Given the description of an element on the screen output the (x, y) to click on. 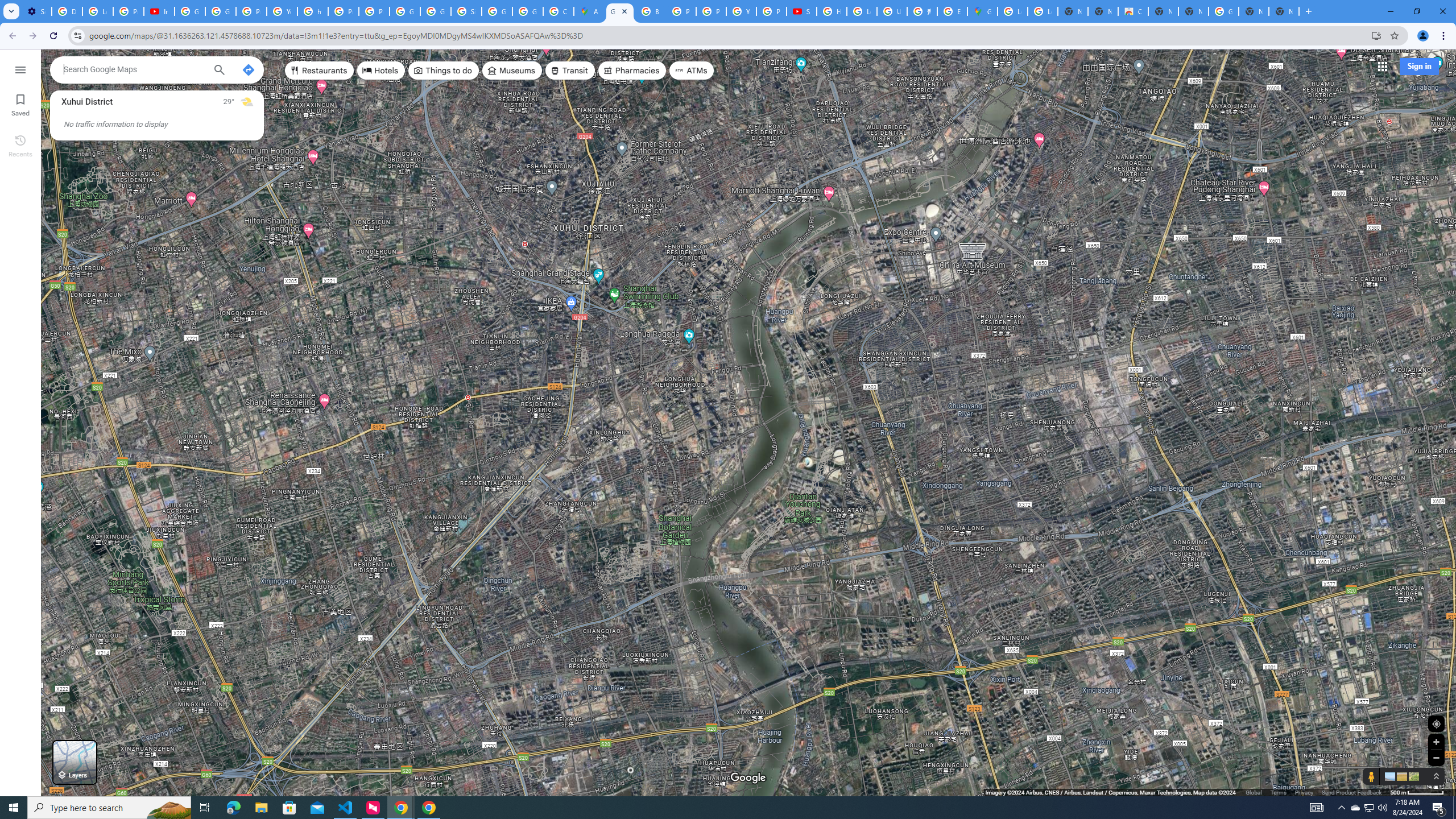
Settings - Customize profile (36, 11)
Blogger Policies and Guidelines - Transparency Center (650, 11)
Partly cloudy (246, 101)
Menu (20, 68)
Learn how to find your photos - Google Photos Help (97, 11)
Zoom out (1436, 757)
Transit (569, 70)
Show Your Location (1436, 723)
